Given the description of an element on the screen output the (x, y) to click on. 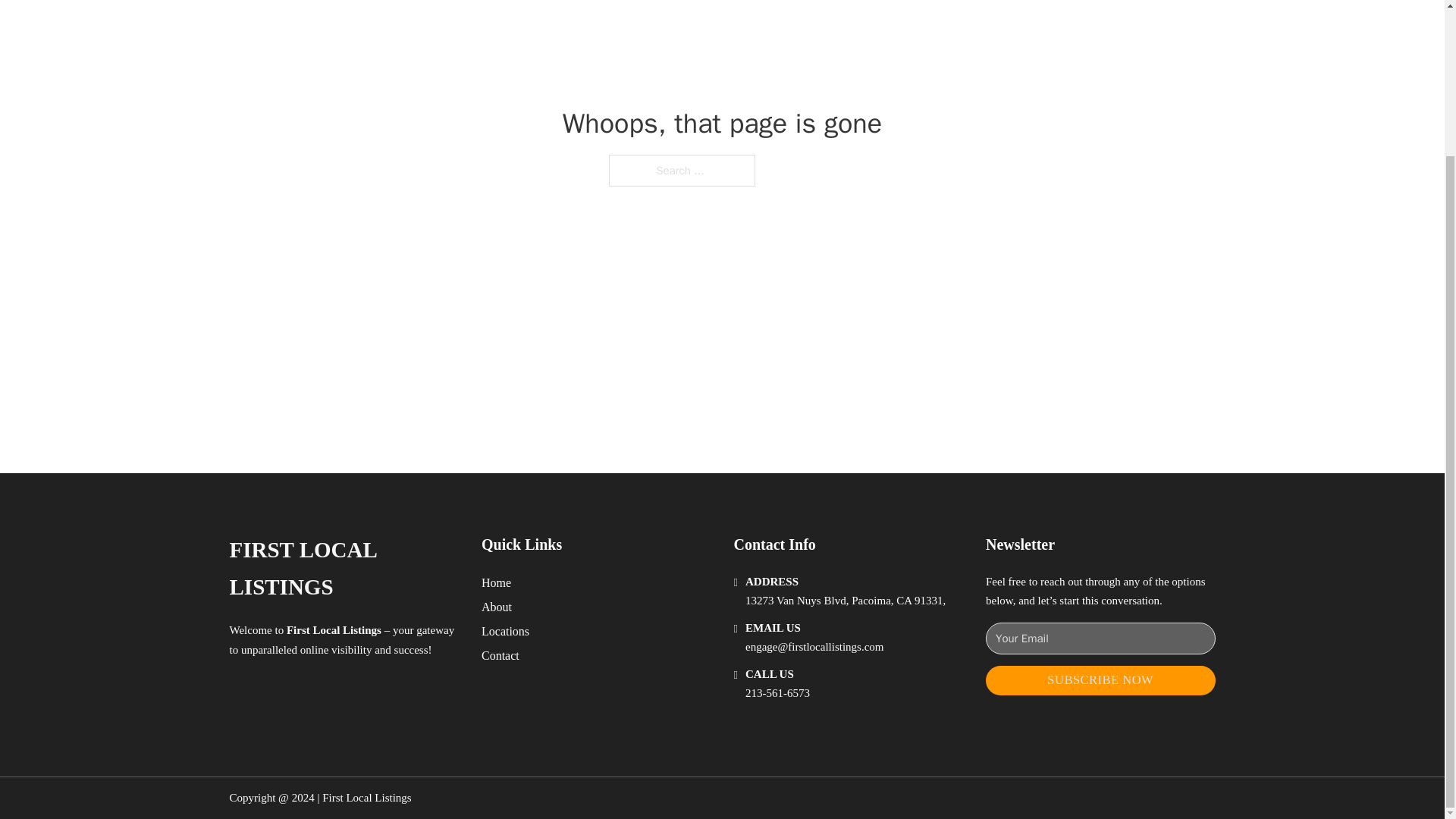
SUBSCRIBE NOW (1100, 680)
Locations (505, 630)
FIRST LOCAL LISTINGS (343, 568)
213-561-6573 (777, 693)
Home (496, 582)
About (496, 607)
Contact (500, 655)
